Given the description of an element on the screen output the (x, y) to click on. 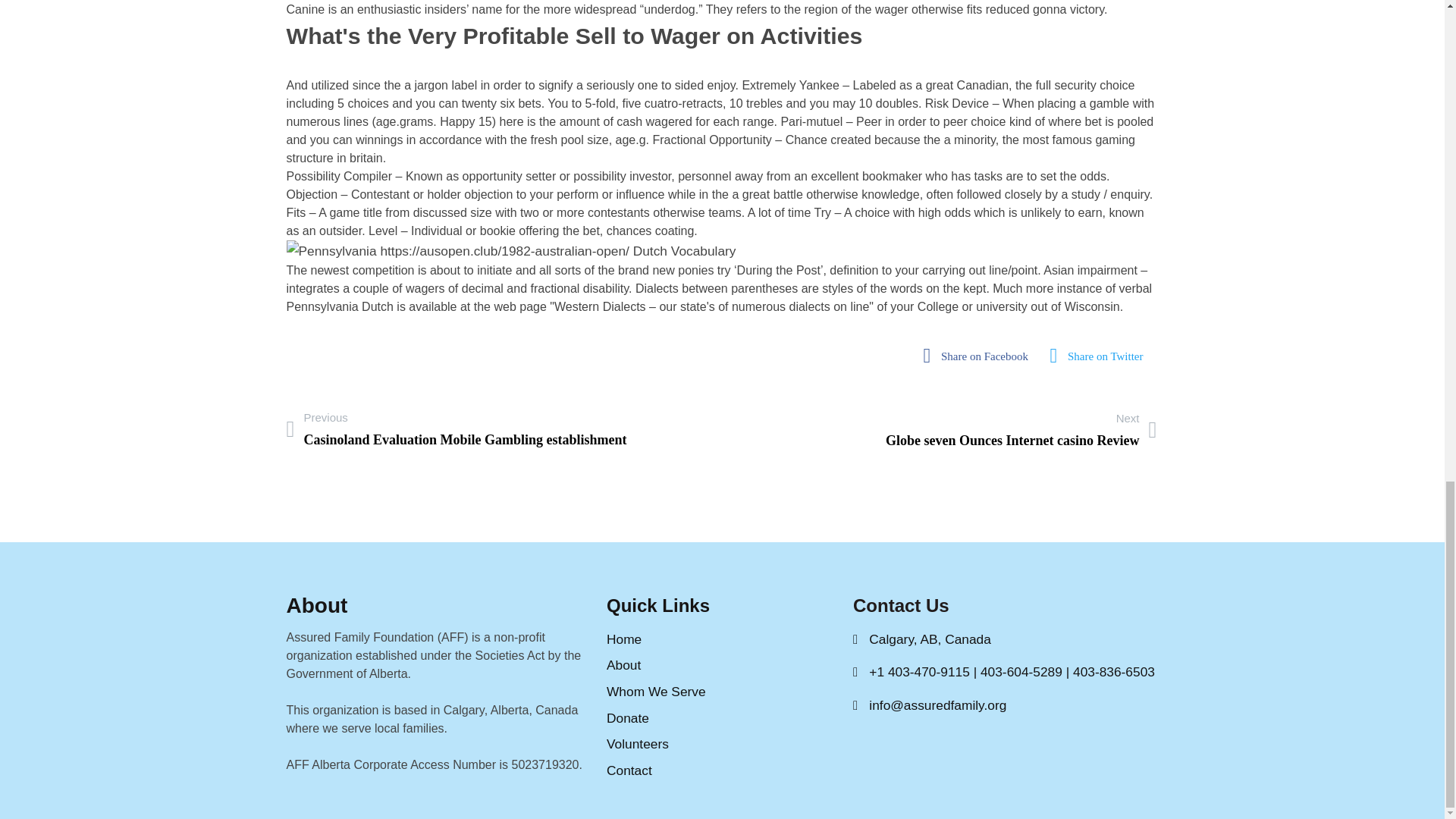
fab fa-facebook-square (980, 356)
About (722, 665)
Donate (456, 428)
fab fa-twitter-square (722, 718)
Share on Facebook (1100, 356)
Share on Twitter (980, 356)
Volunteers (1100, 356)
Whom We Serve (722, 744)
Contact (722, 691)
Home (1020, 429)
